Given the description of an element on the screen output the (x, y) to click on. 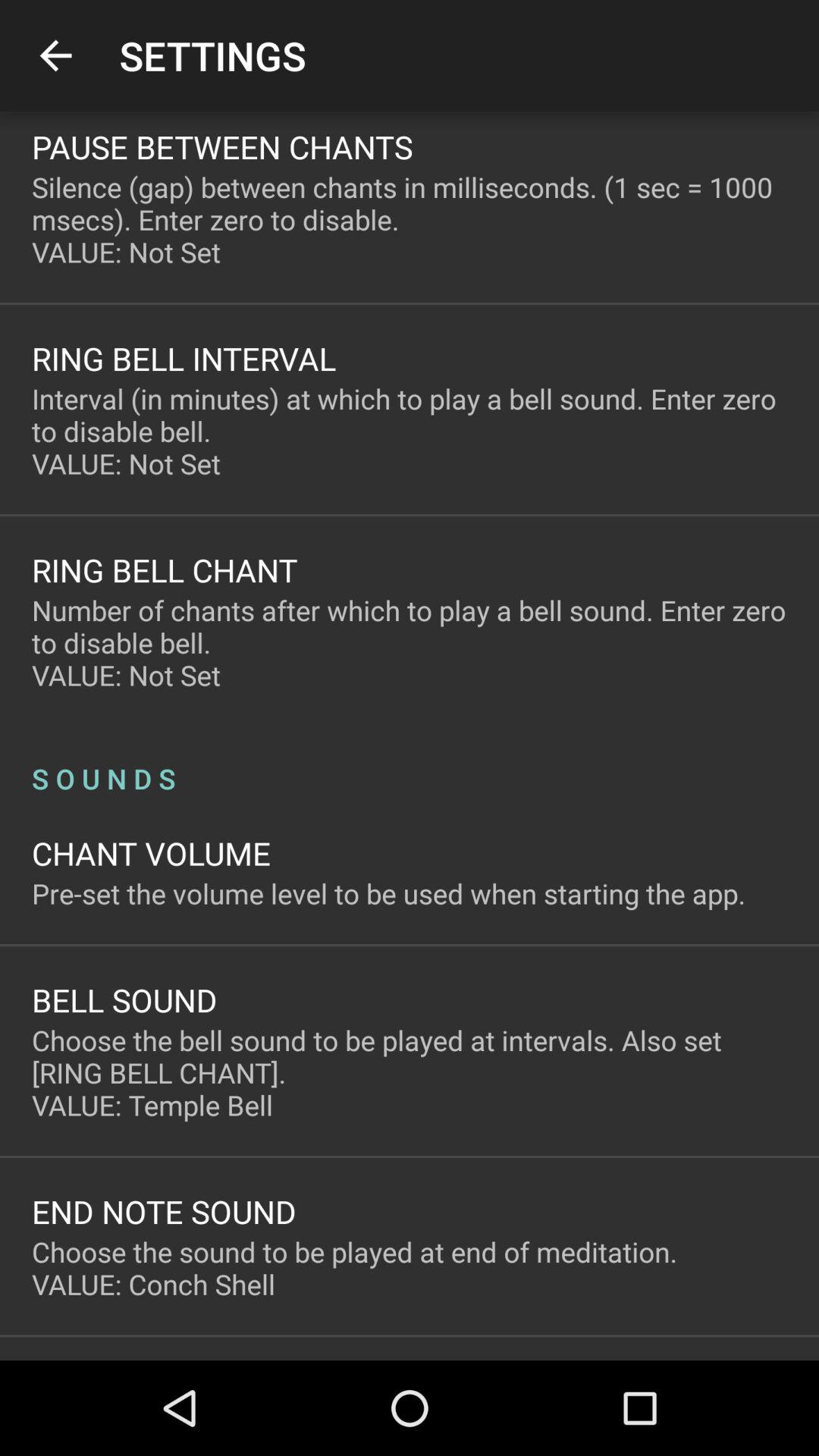
turn off icon above the chant volume item (409, 762)
